Given the description of an element on the screen output the (x, y) to click on. 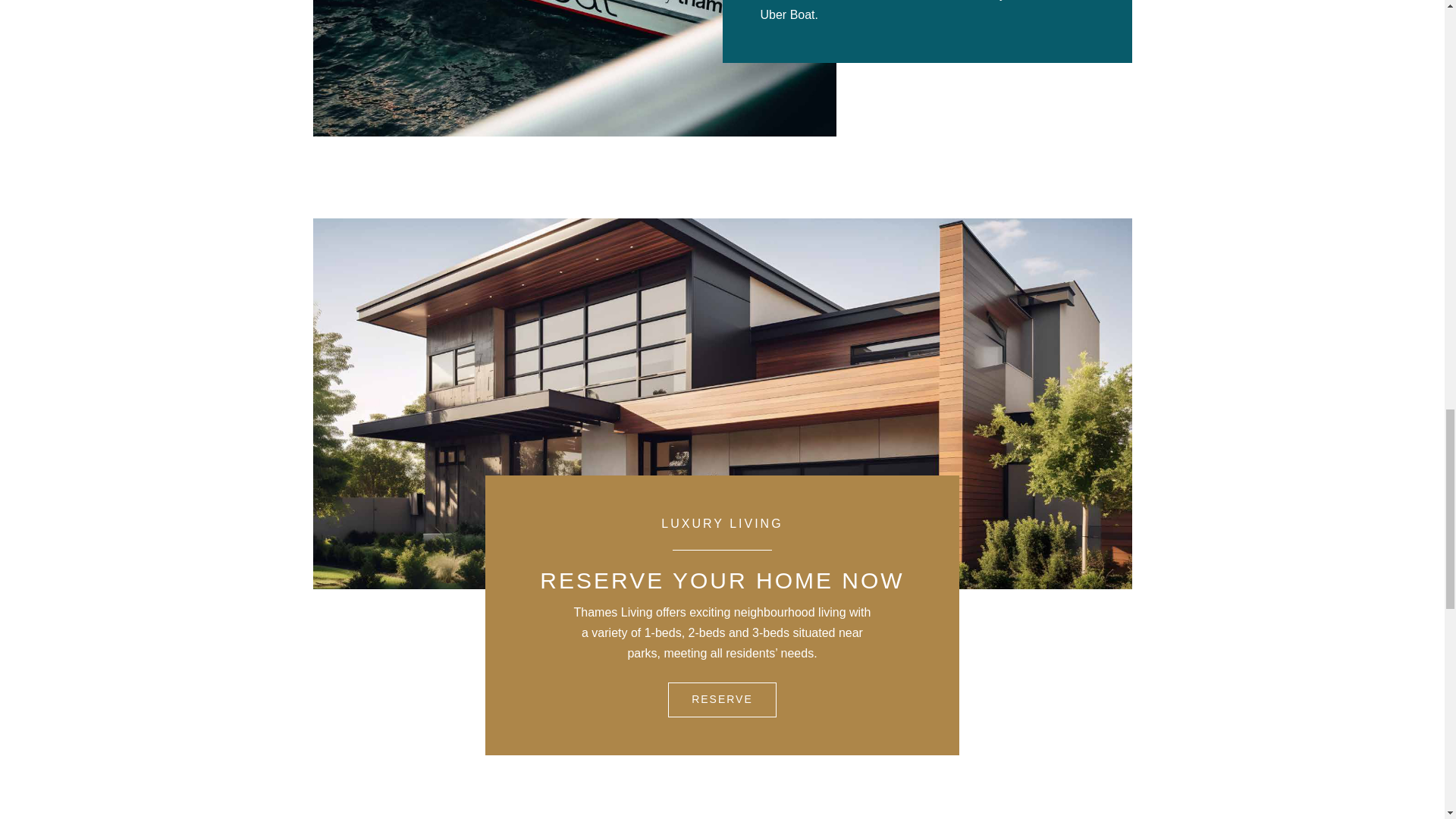
Uber Boat (574, 68)
RESERVE (722, 699)
